Given the description of an element on the screen output the (x, y) to click on. 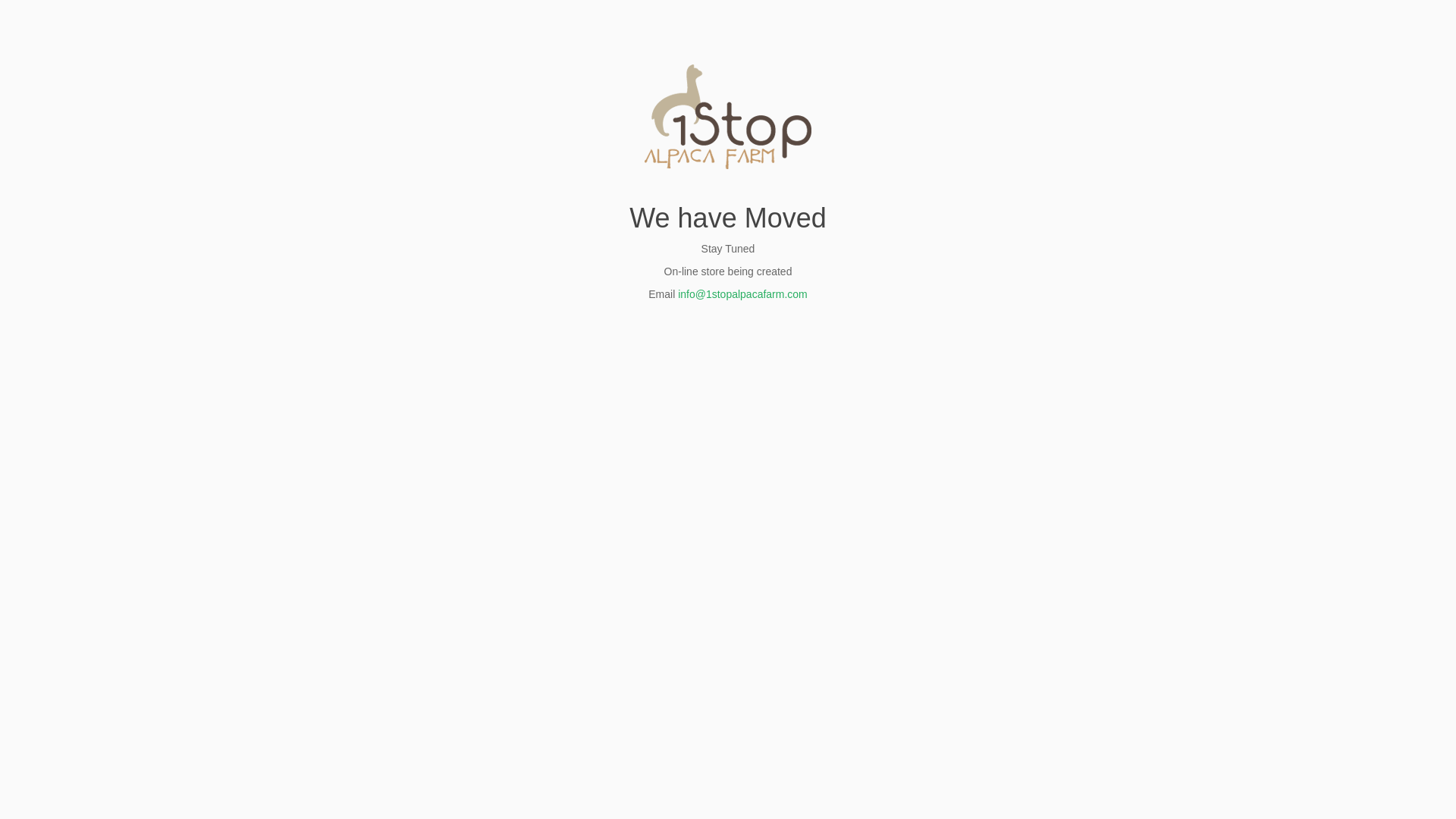
info@1stopalpacafarm.com Element type: text (742, 294)
